Given the description of an element on the screen output the (x, y) to click on. 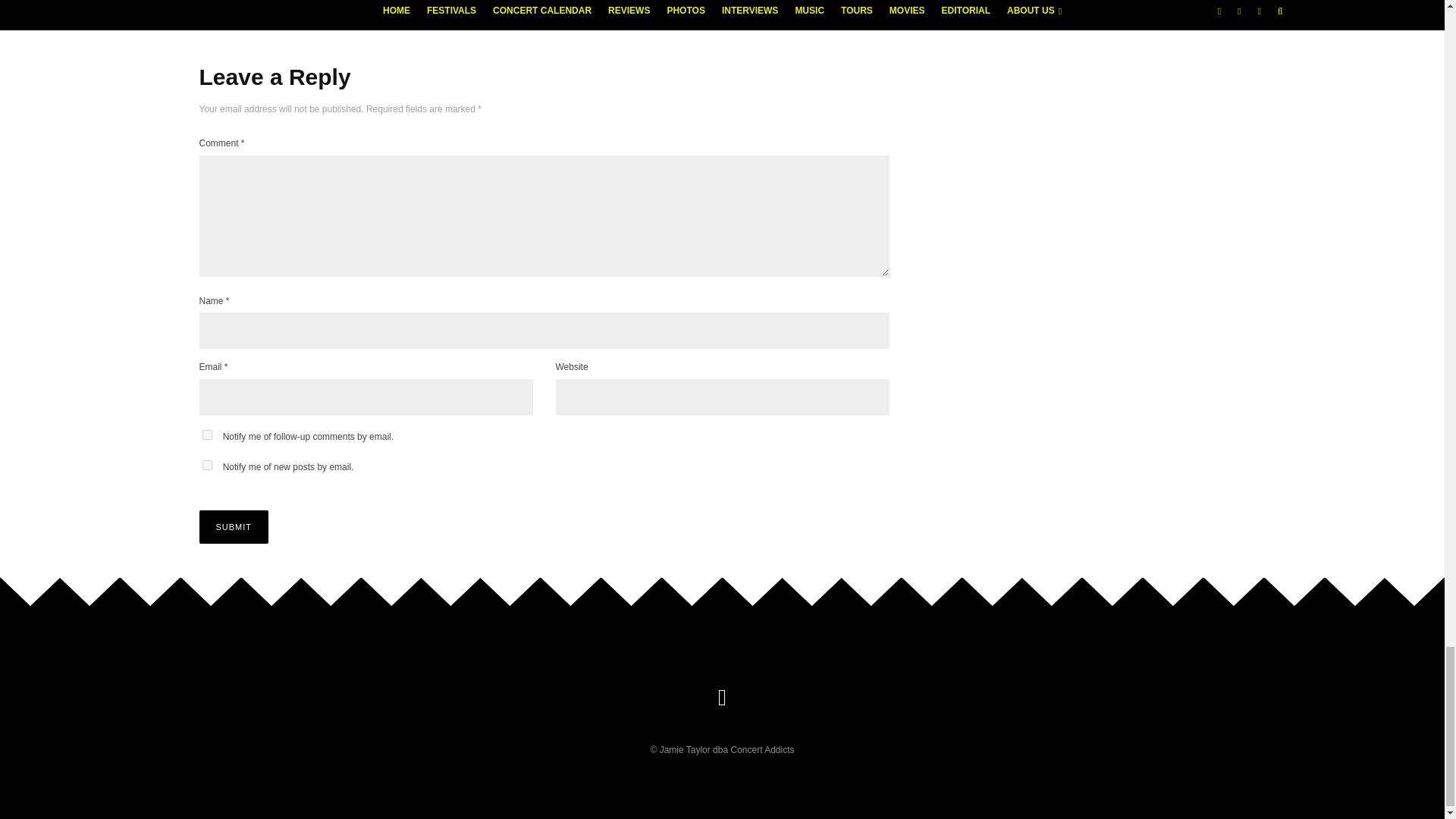
subscribe (206, 434)
Submit (232, 526)
subscribe (206, 465)
